Given the description of an element on the screen output the (x, y) to click on. 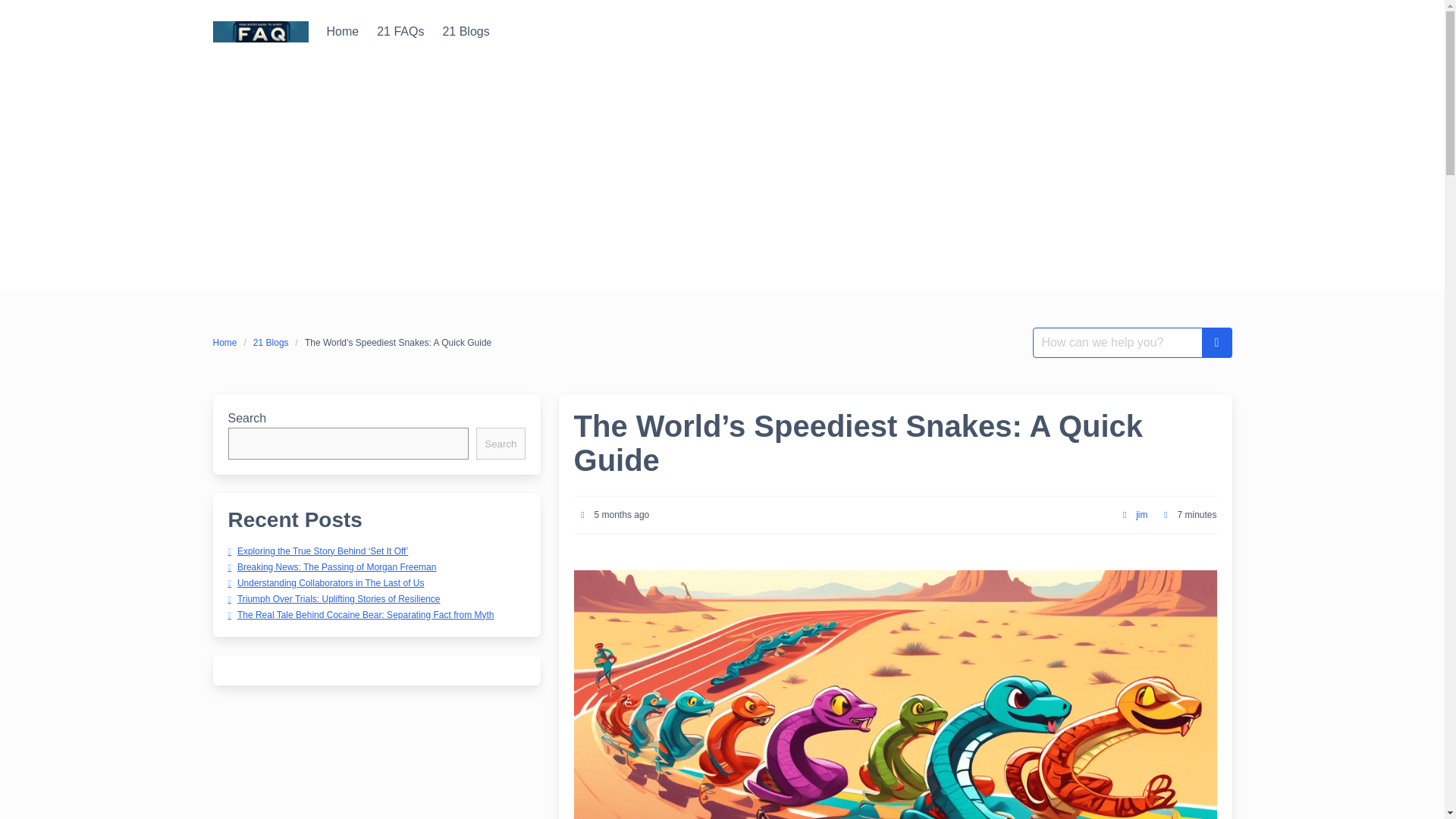
21 Blogs (270, 342)
jim (1141, 514)
21 Blogs (464, 31)
Triumph Over Trials: Uplifting Stories of Resilience (333, 597)
The Real Tale Behind Cocaine Bear: Separating Fact from Myth (360, 614)
Home (227, 342)
21 FAQs (400, 31)
21 FAQs (400, 31)
21 Blogs (464, 31)
